Given the description of an element on the screen output the (x, y) to click on. 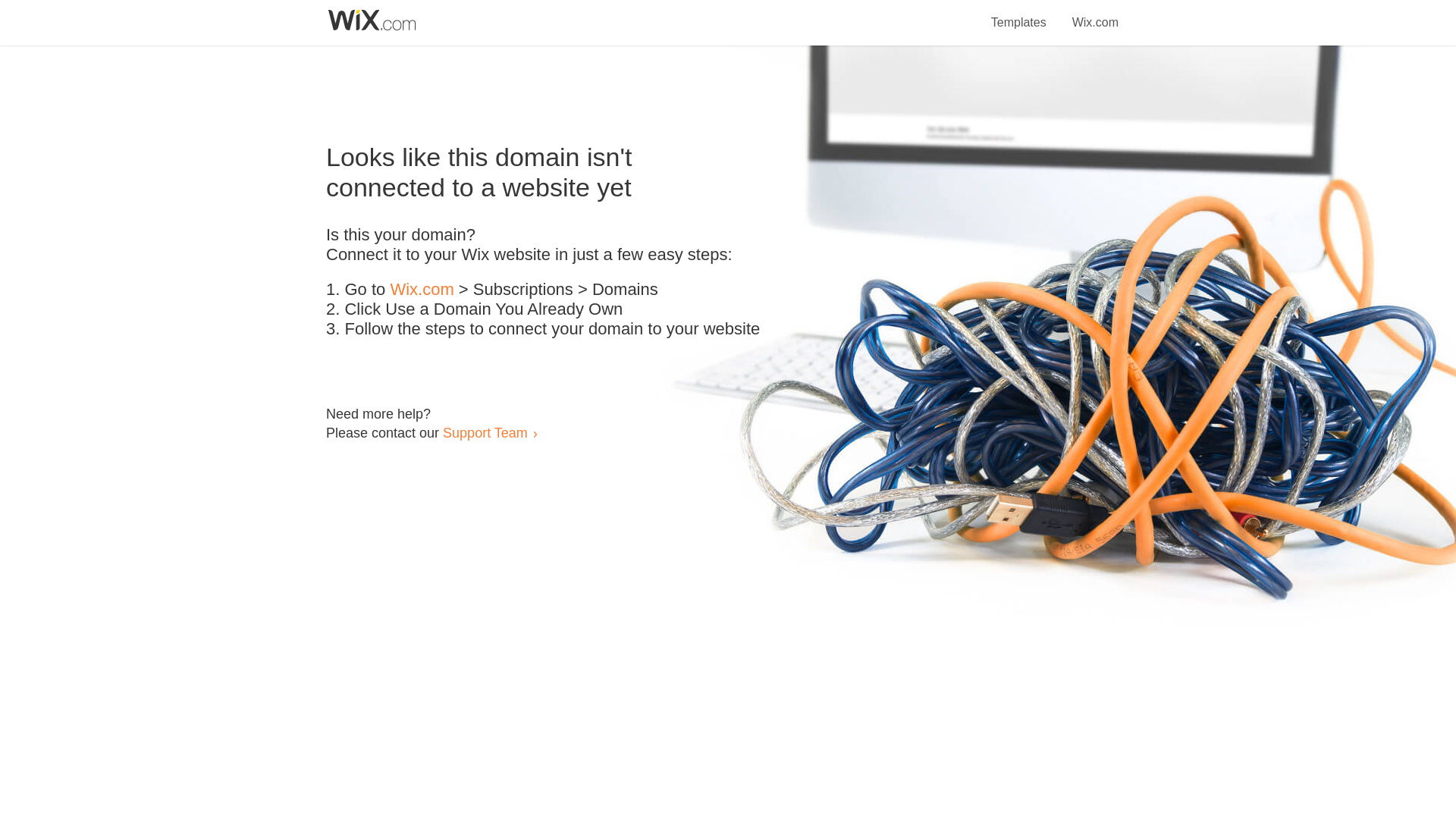
Wix.com (1095, 14)
Wix.com (421, 289)
Templates (1018, 14)
Support Team (484, 432)
